Given the description of an element on the screen output the (x, y) to click on. 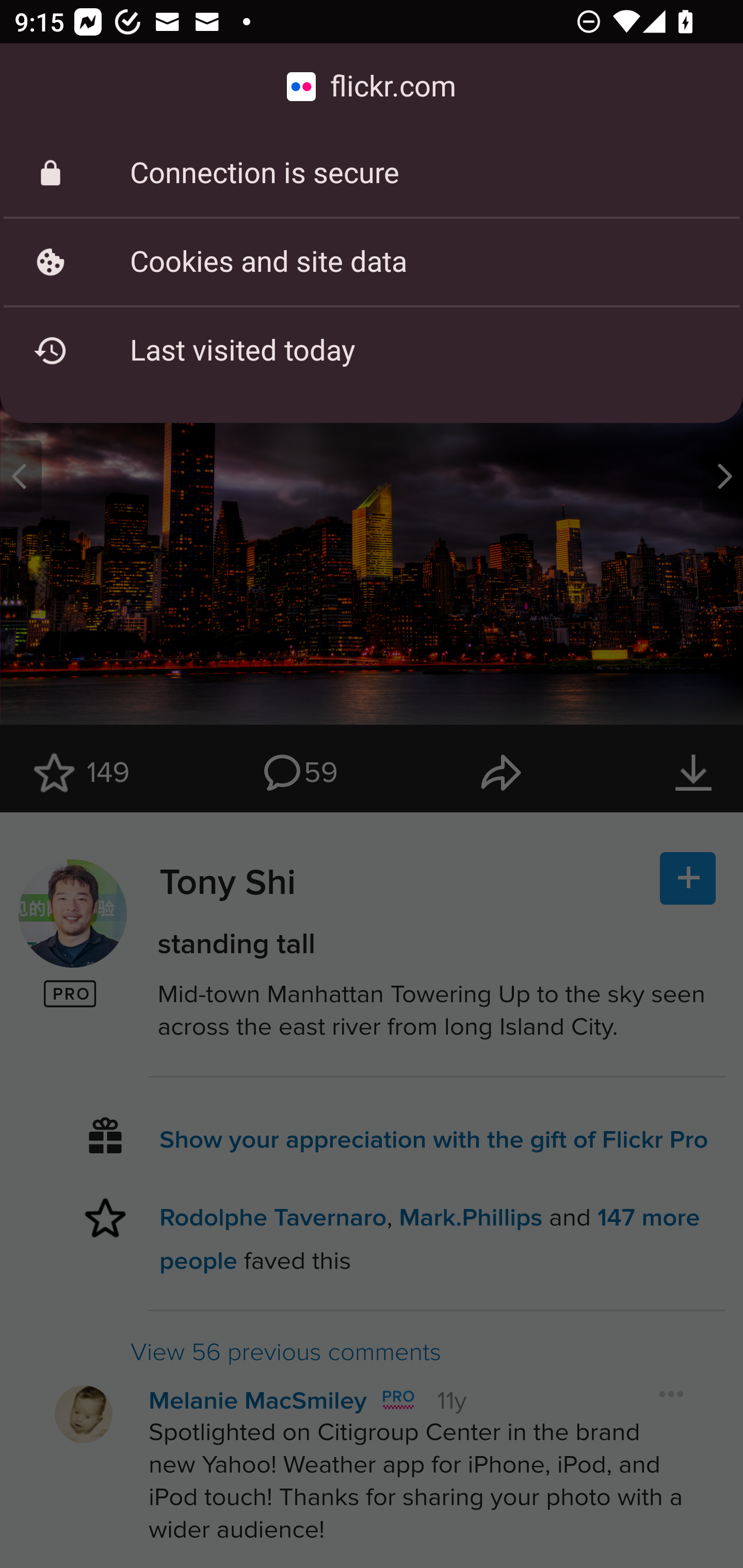
flickr.com (371, 86)
Connection is secure (371, 173)
Cookies and site data (371, 261)
Last visited today (371, 350)
